Given the description of an element on the screen output the (x, y) to click on. 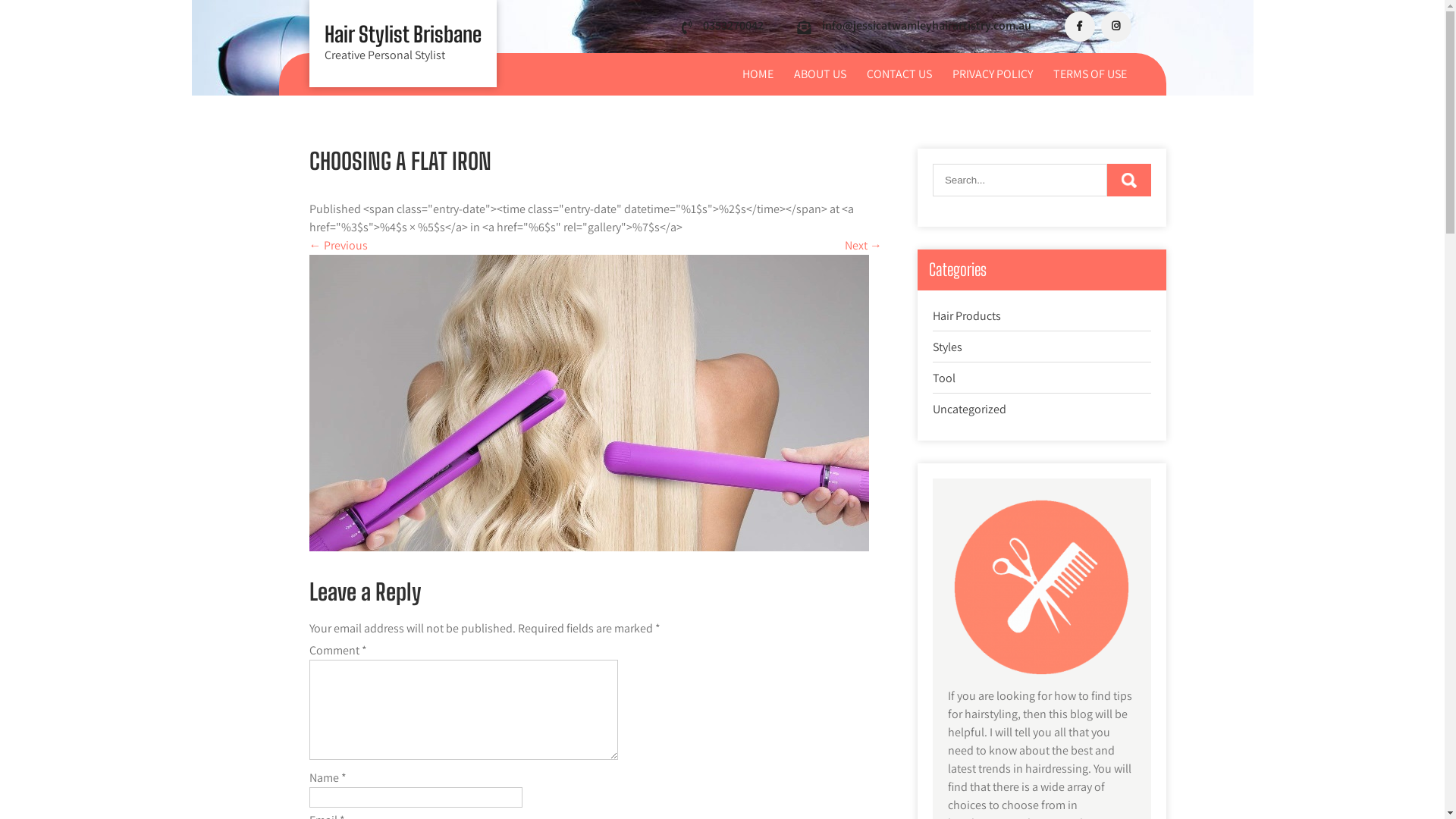
ABOUT US Element type: text (819, 74)
info@jessicatwamleyhairartistry.com.au Element type: text (926, 25)
Tool Element type: text (943, 377)
Search Element type: text (1129, 179)
HOME Element type: text (756, 74)
PRIVACY POLICY Element type: text (992, 74)
Hair Products Element type: text (966, 315)
Uncategorized Element type: text (969, 409)
CONTACT US Element type: text (898, 74)
Hair Stylist Brisbane Element type: text (402, 34)
Styles Element type: text (947, 346)
TERMS OF USE Element type: text (1089, 74)
